Given the description of an element on the screen output the (x, y) to click on. 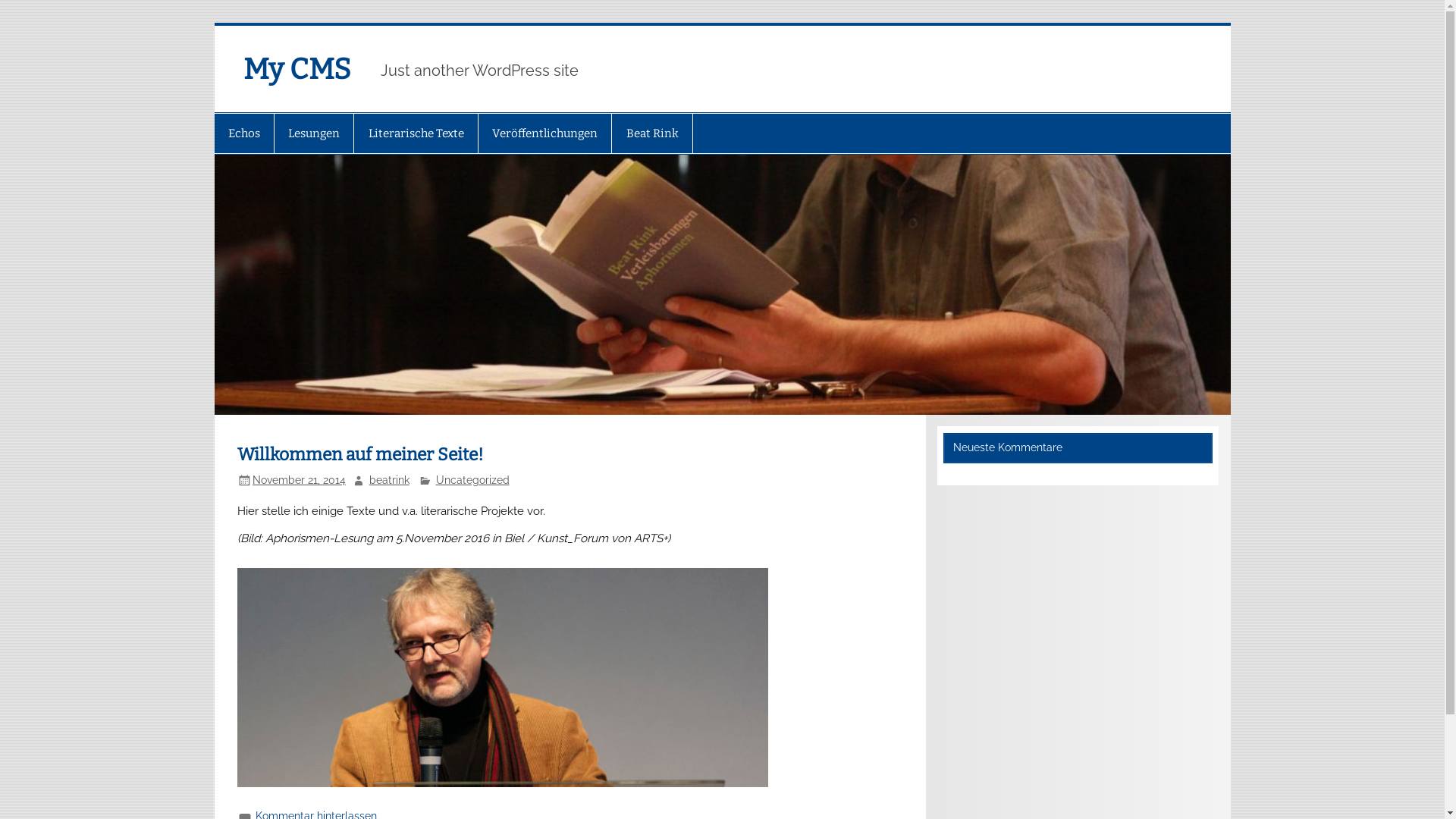
beatrink Element type: text (389, 479)
Beat Rink Element type: text (651, 133)
Willkommen auf meiner Seite! Element type: text (360, 454)
Echos Element type: text (243, 133)
Lesungen Element type: text (313, 133)
My CMS Element type: text (296, 68)
Literarische Texte Element type: text (415, 133)
November 21, 2014 Element type: text (298, 479)
Uncategorized Element type: text (472, 479)
